Given the description of an element on the screen output the (x, y) to click on. 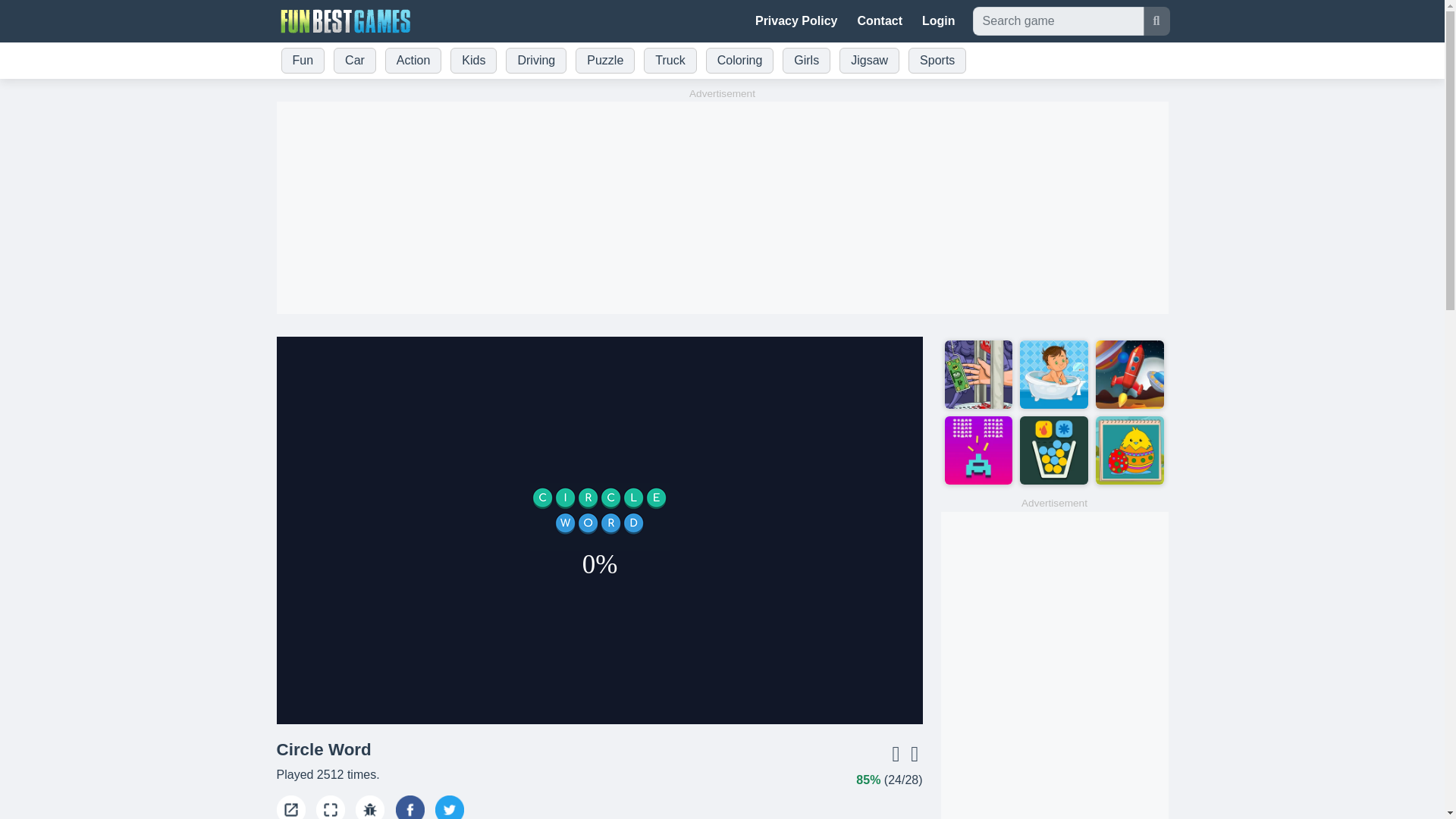
Jigsaw (869, 60)
Action (412, 60)
Fun (302, 60)
Sports (937, 60)
Puzzle (604, 60)
Login (937, 20)
Car (354, 60)
Full Screen (330, 807)
New Window (290, 807)
Contact (879, 20)
Truck (669, 60)
Kids (472, 60)
Privacy Policy (796, 20)
Girls (805, 60)
